Given the description of an element on the screen output the (x, y) to click on. 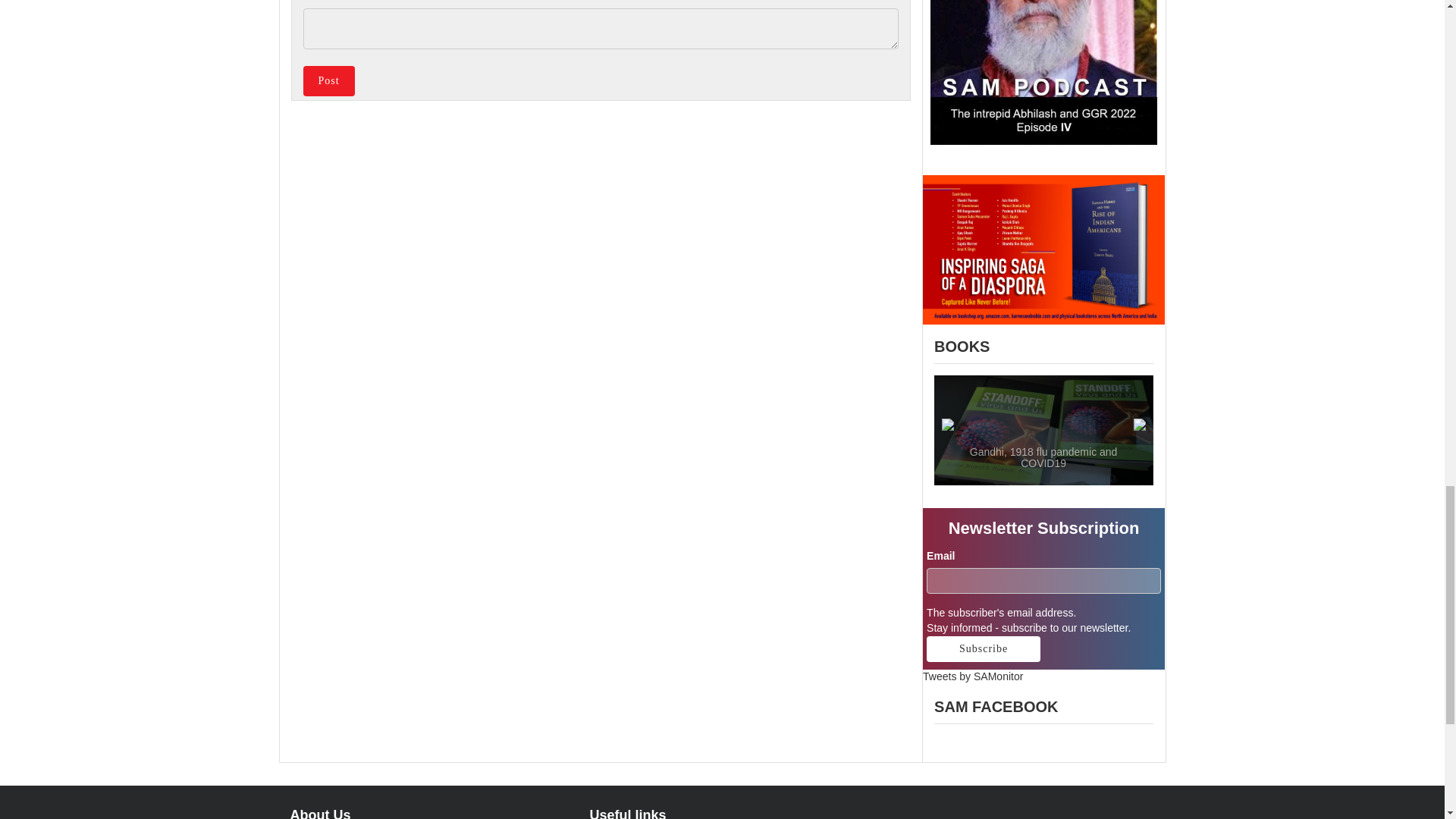
Post (328, 81)
Subscribe (983, 648)
The intrepid Abhilash and GGR 2022-Part IV (1043, 72)
